Given the description of an element on the screen output the (x, y) to click on. 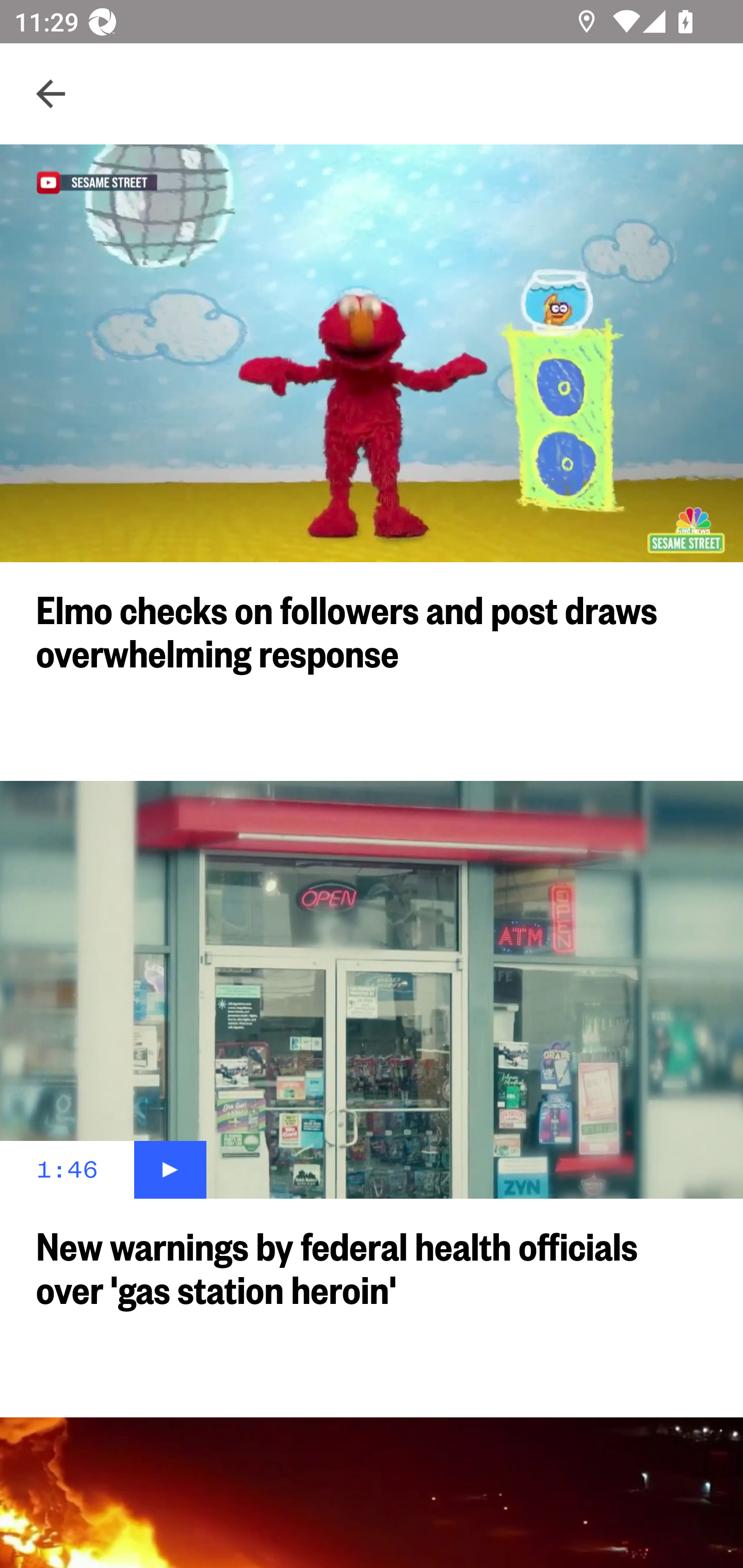
Navigate up (50, 93)
